Given the description of an element on the screen output the (x, y) to click on. 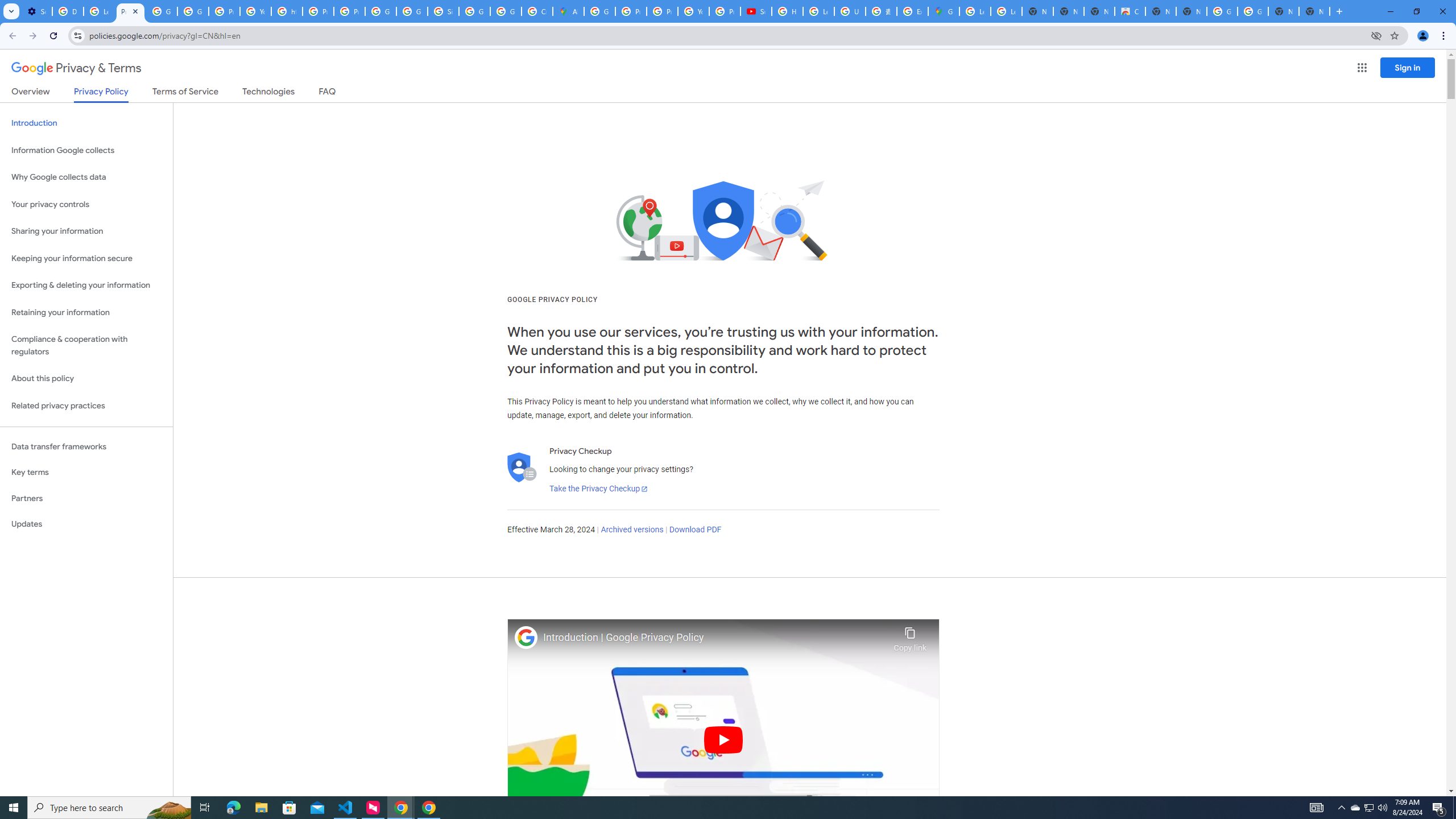
Privacy Help Center - Policies Help (662, 11)
Related privacy practices (86, 405)
Google Images (1252, 11)
